Given the description of an element on the screen output the (x, y) to click on. 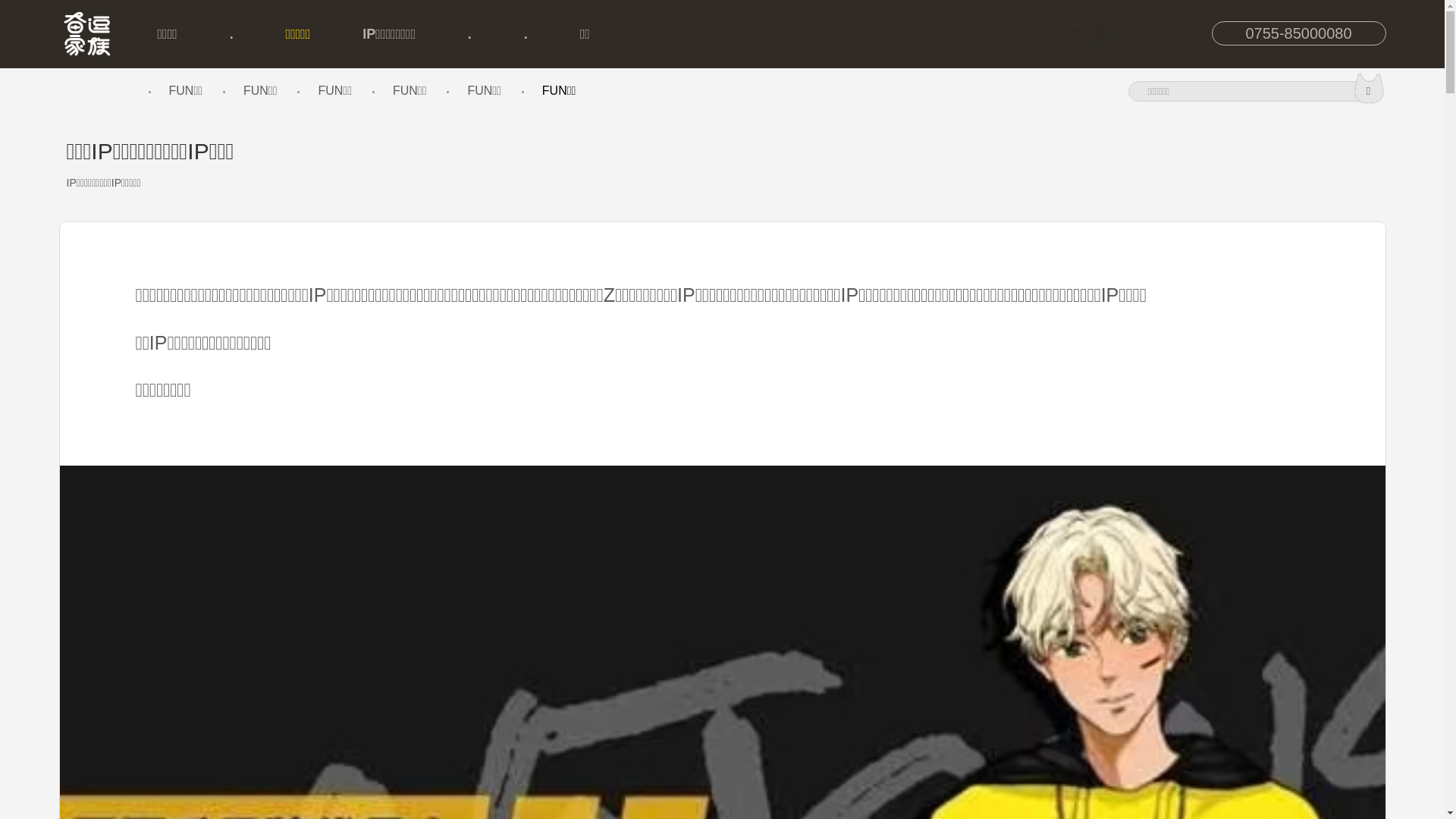
. Element type: text (525, 34)
. Element type: text (231, 34)
0755-85000080 Element type: text (1298, 32)
Music On/Off Element type: hover (68, 90)
. Element type: text (469, 34)
